Given the description of an element on the screen output the (x, y) to click on. 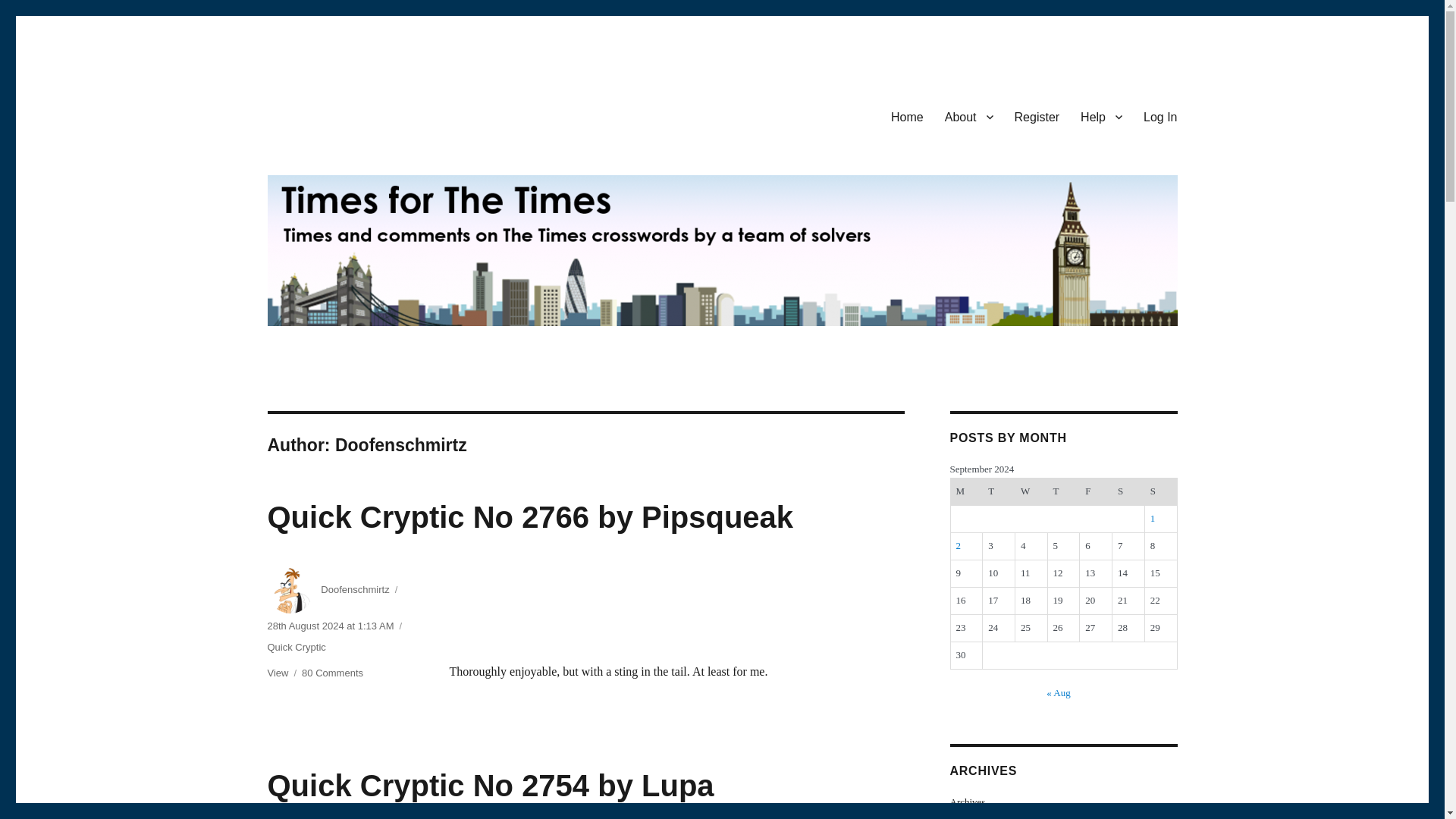
View (277, 672)
Log In (1160, 116)
Wednesday (1030, 491)
Quick Cryptic (295, 646)
Tuesday (998, 491)
Doofenschmirtz (331, 672)
Quick Cryptic No 2754 by Lupa (354, 589)
Quick Cryptic No 2766 by Pipsqueak (489, 785)
Saturday (529, 516)
